Given the description of an element on the screen output the (x, y) to click on. 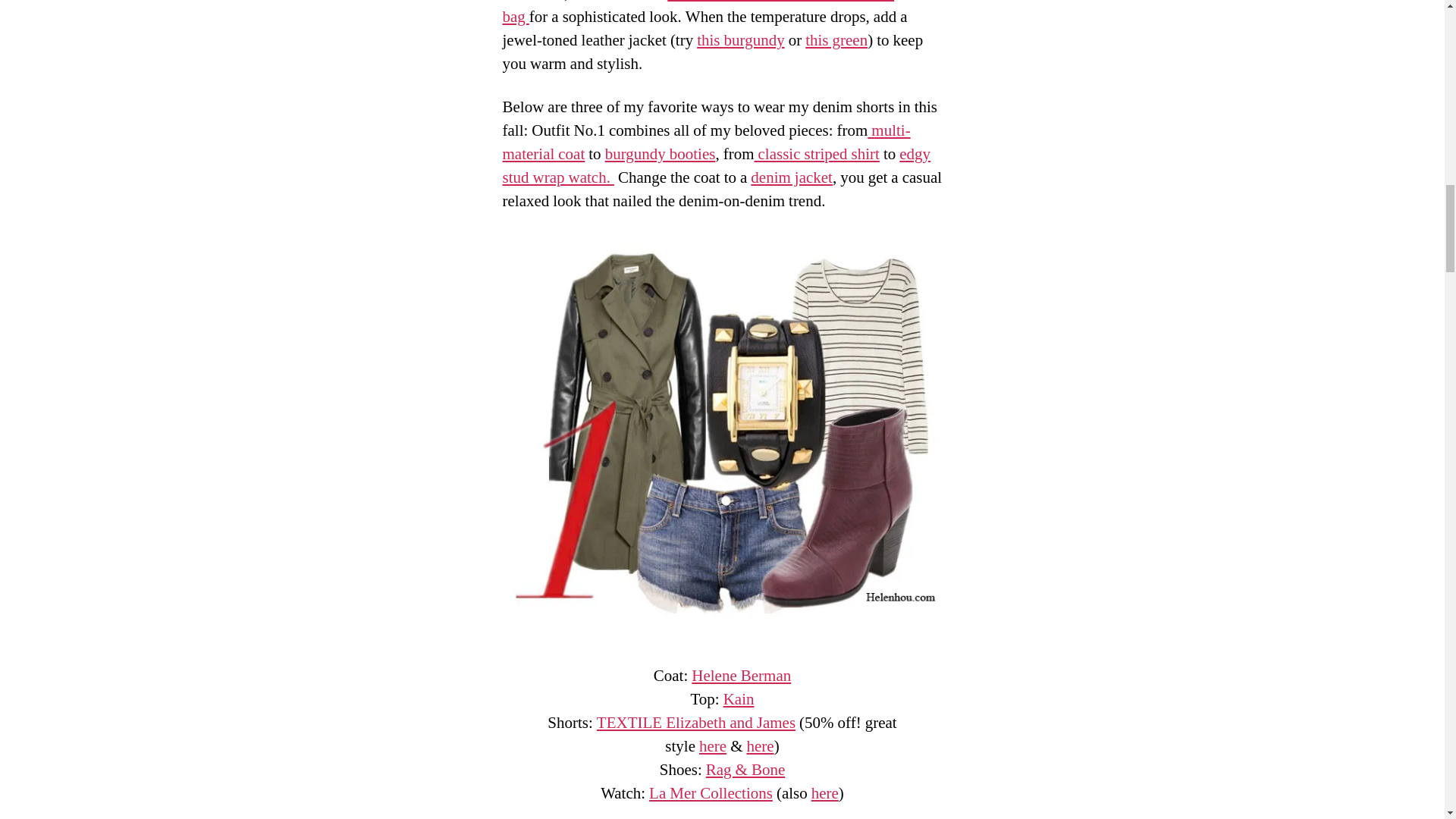
classic striped shirt (816, 154)
Kain (738, 699)
multi-material coat (706, 142)
this burgundy (740, 40)
edgy stud wrap watch.  (716, 166)
La Mer Collections (711, 792)
this green (836, 40)
TEXTILE Elizabeth and James (695, 722)
here (712, 746)
burgundy booties (660, 154)
here (824, 792)
here (759, 746)
denim jacket (791, 177)
Helene Berman (740, 675)
